Given the description of an element on the screen output the (x, y) to click on. 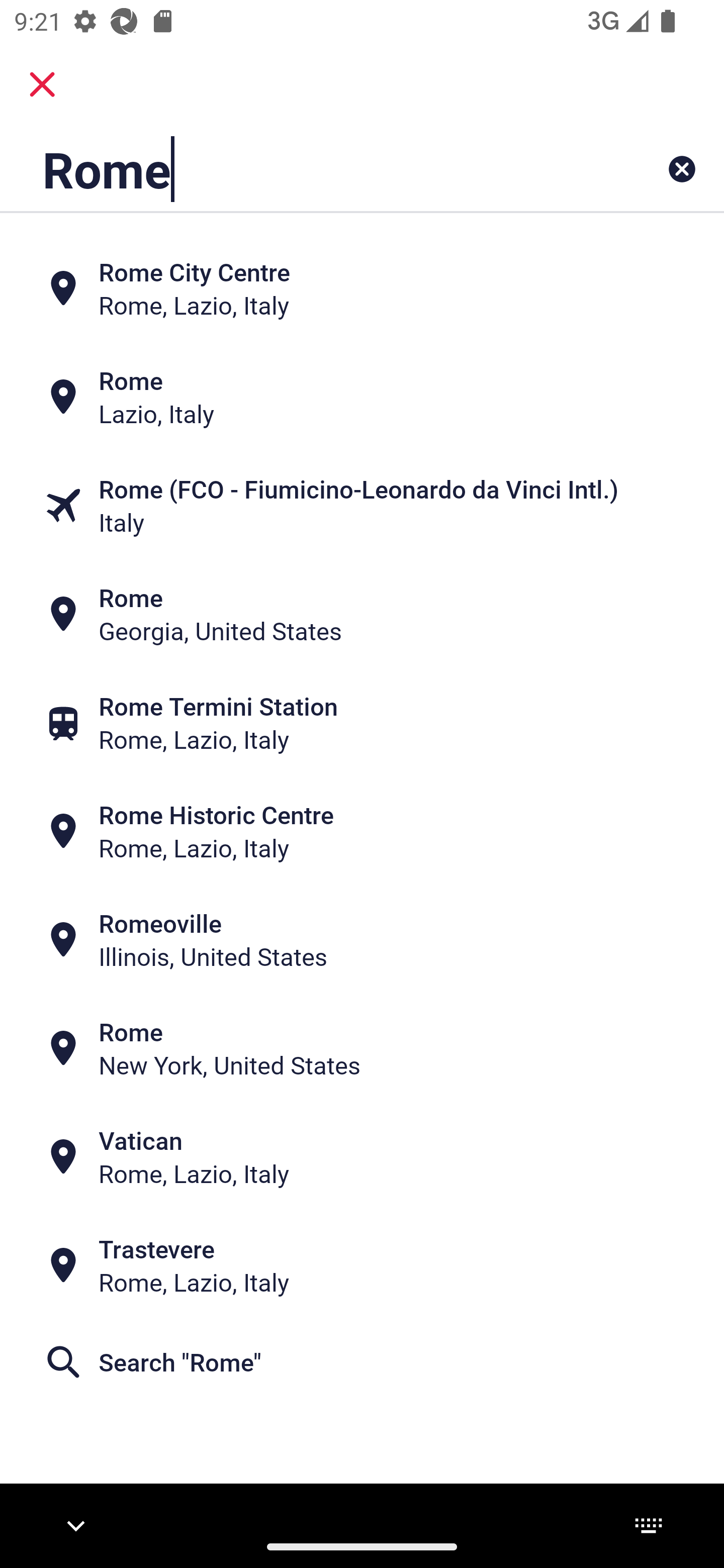
close. (42, 84)
Clear (681, 169)
Rome (298, 169)
Rome City Centre Rome, Lazio, Italy (362, 288)
Rome Lazio, Italy (362, 397)
Rome Georgia, United States (362, 613)
Rome Termini Station Rome, Lazio, Italy (362, 722)
Rome Historic Centre Rome, Lazio, Italy (362, 831)
Romeoville Illinois, United States (362, 939)
Rome New York, United States (362, 1048)
Vatican Rome, Lazio, Italy (362, 1156)
Trastevere Rome, Lazio, Italy (362, 1265)
Search "Rome" (361, 1362)
